Given the description of an element on the screen output the (x, y) to click on. 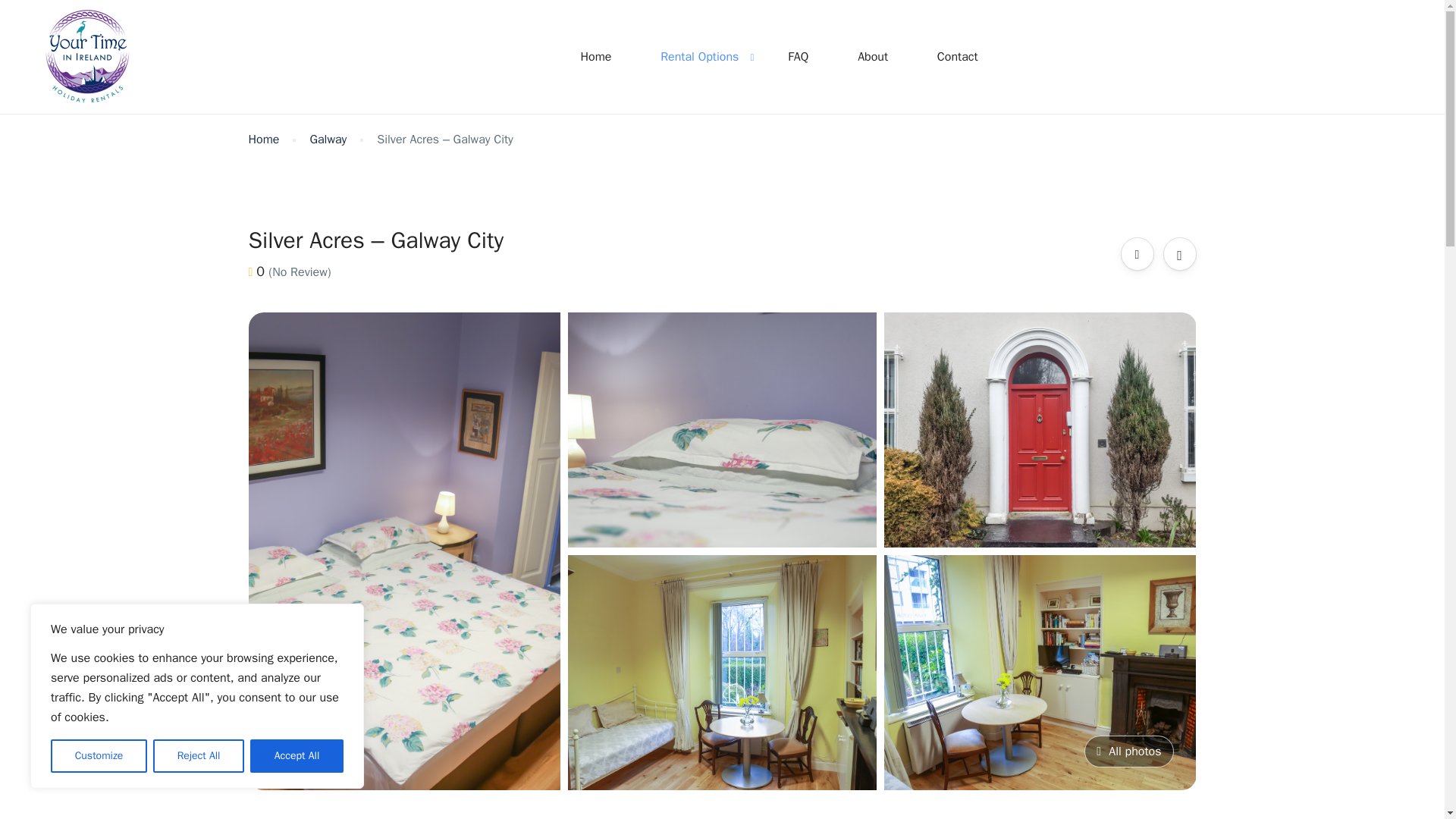
FAQ (798, 56)
Galway (327, 139)
Home (595, 56)
Add to wishlist (1179, 253)
Contact (957, 56)
Rental Options (699, 56)
Customize (98, 756)
Accept All (296, 756)
Home (263, 139)
About (872, 56)
Reject All (198, 756)
